Given the description of an element on the screen output the (x, y) to click on. 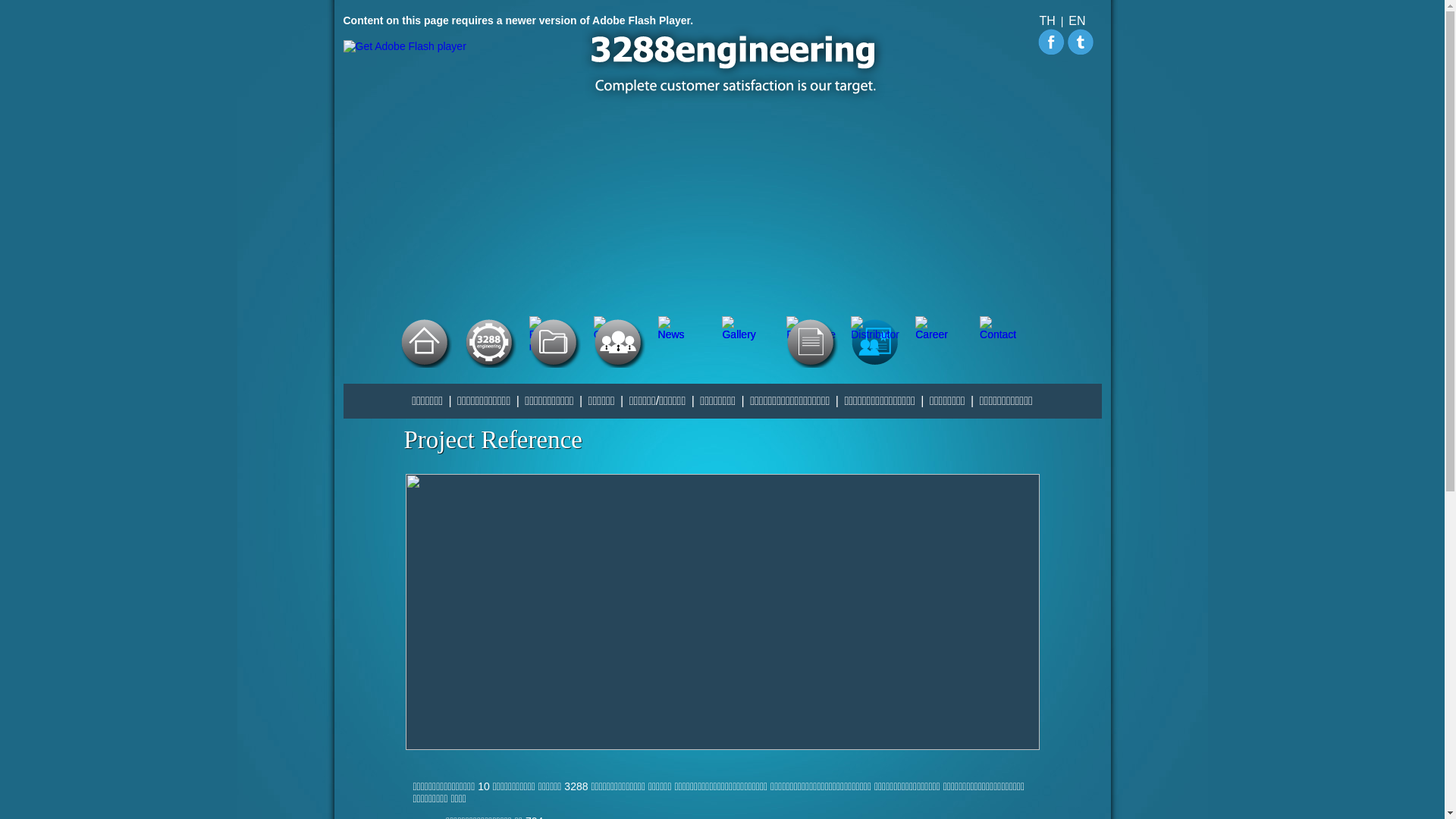
TH Element type: text (1047, 20)
EN Element type: text (1076, 20)
